Given the description of an element on the screen output the (x, y) to click on. 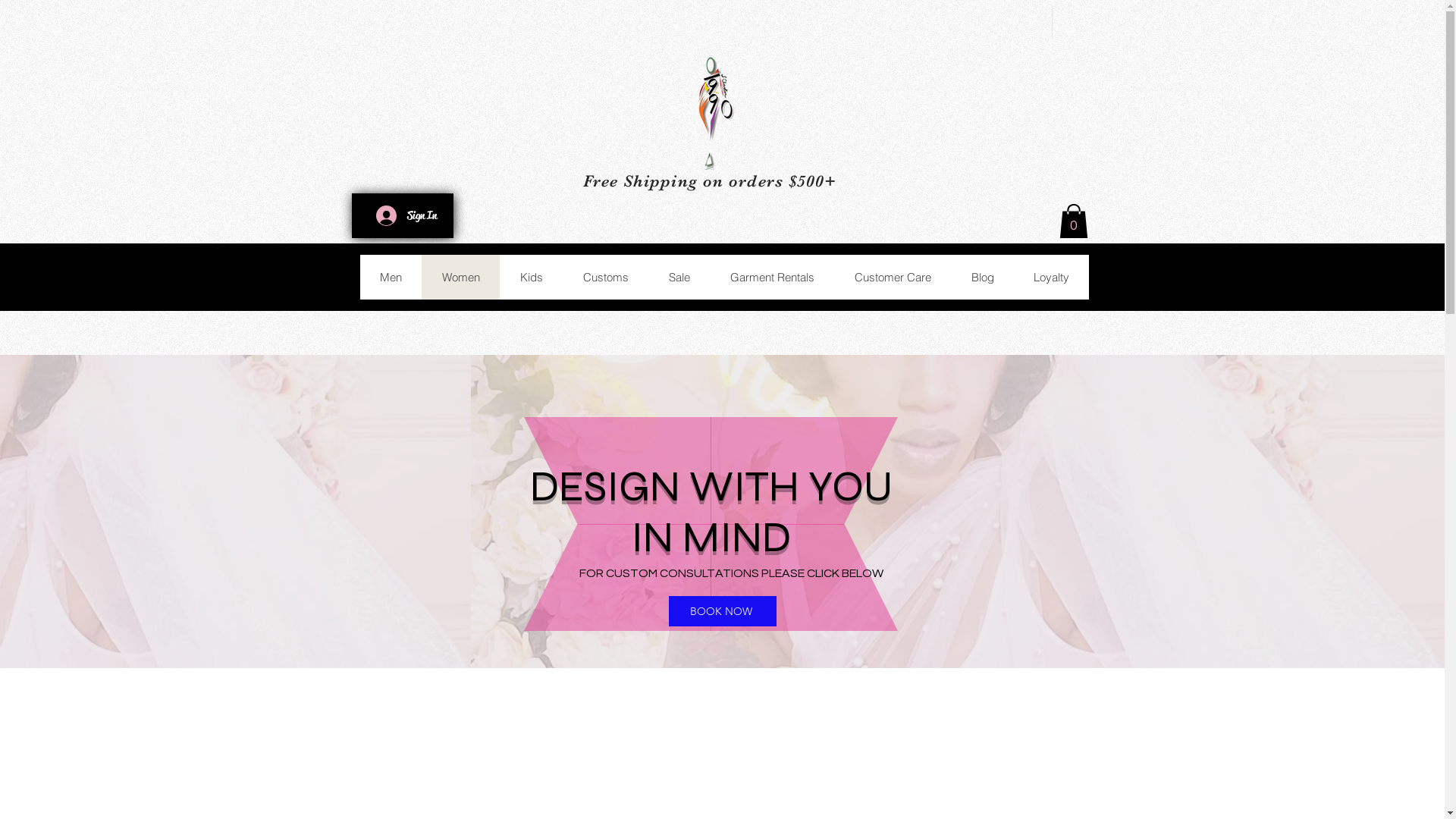
Customer Care Element type: text (892, 276)
Kids Element type: text (529, 276)
Sale Element type: text (678, 276)
Loyalty Element type: text (1050, 276)
Customs Element type: text (605, 276)
Sign In Element type: text (406, 215)
Women Element type: text (460, 276)
Men Element type: text (389, 276)
0 Element type: text (1072, 220)
BOOK NOW Element type: text (722, 611)
Garment Rentals Element type: text (771, 276)
Blog Element type: text (981, 276)
